Given the description of an element on the screen output the (x, y) to click on. 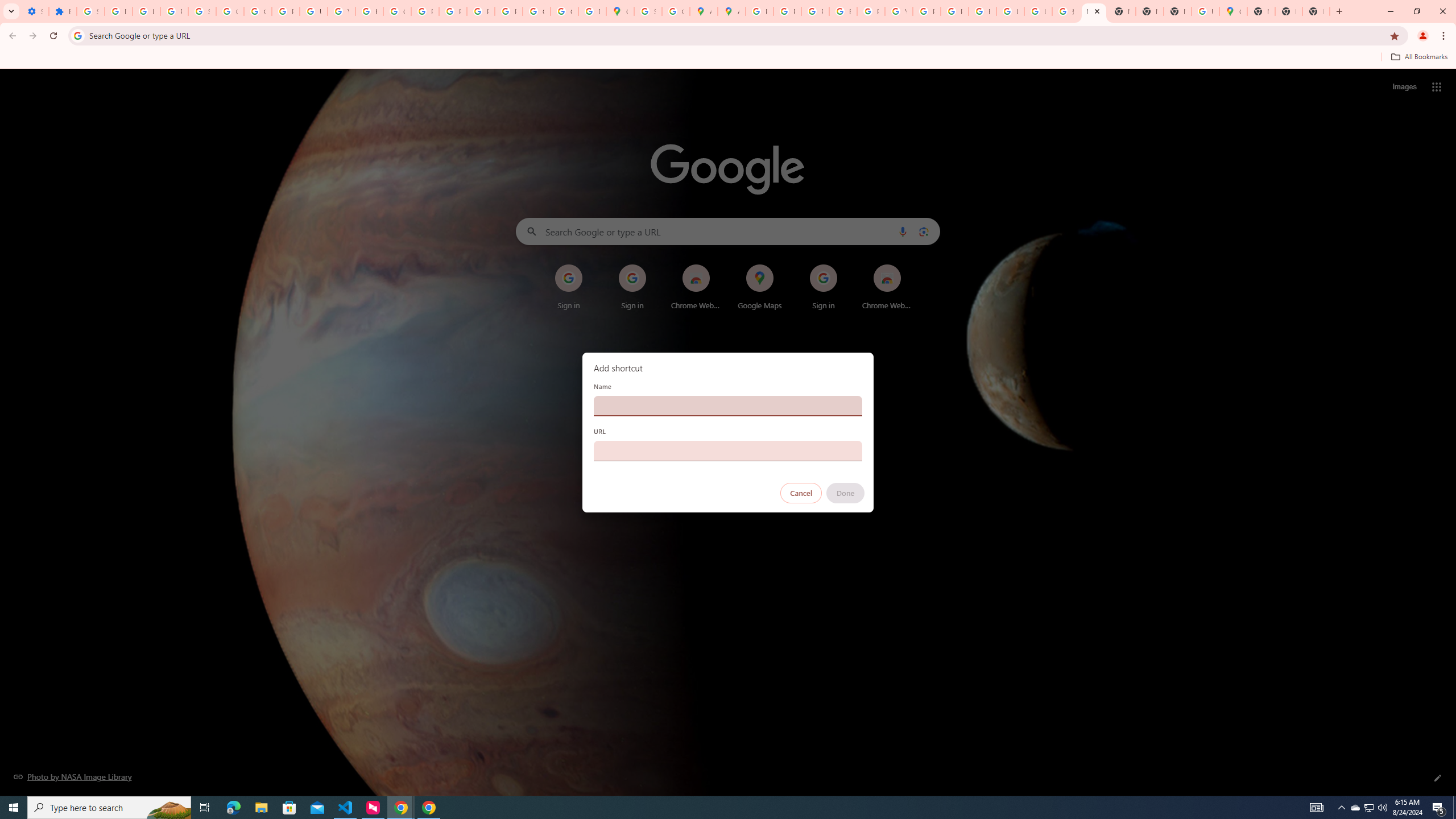
Cancel (801, 493)
YouTube (898, 11)
Sign in - Google Accounts (90, 11)
Use Google Maps in Space - Google Maps Help (1205, 11)
Privacy Help Center - Policies Help (815, 11)
Google Account Help (229, 11)
Name (727, 405)
